Given the description of an element on the screen output the (x, y) to click on. 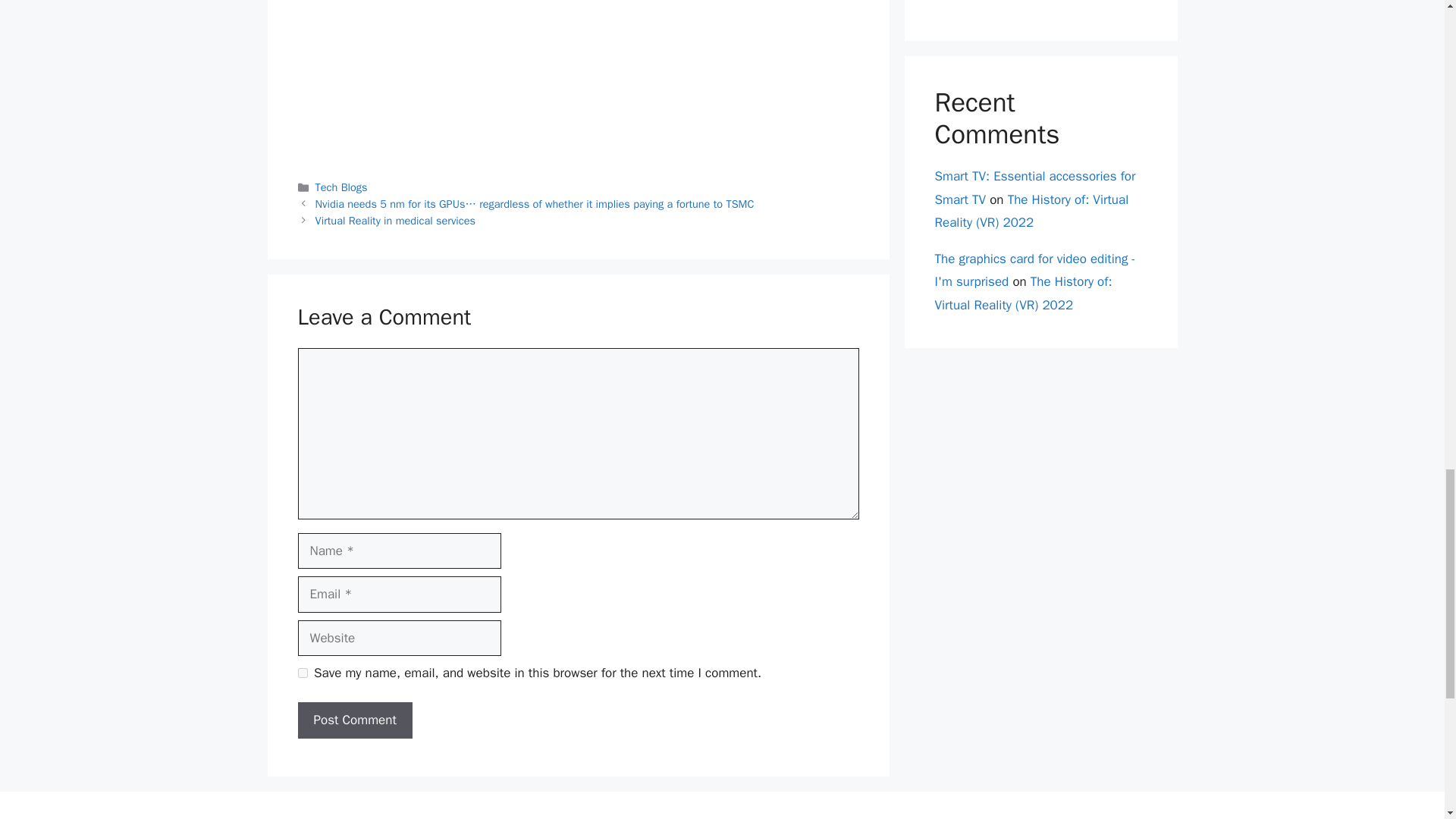
The graphics card for video editing - I'm surprised (1034, 270)
Tech Blogs (341, 187)
Smart TV: Essential accessories for Smart TV (1034, 188)
yes (302, 673)
Virtual Reality in medical services (395, 220)
Post Comment (354, 719)
Post Comment (354, 719)
